Given the description of an element on the screen output the (x, y) to click on. 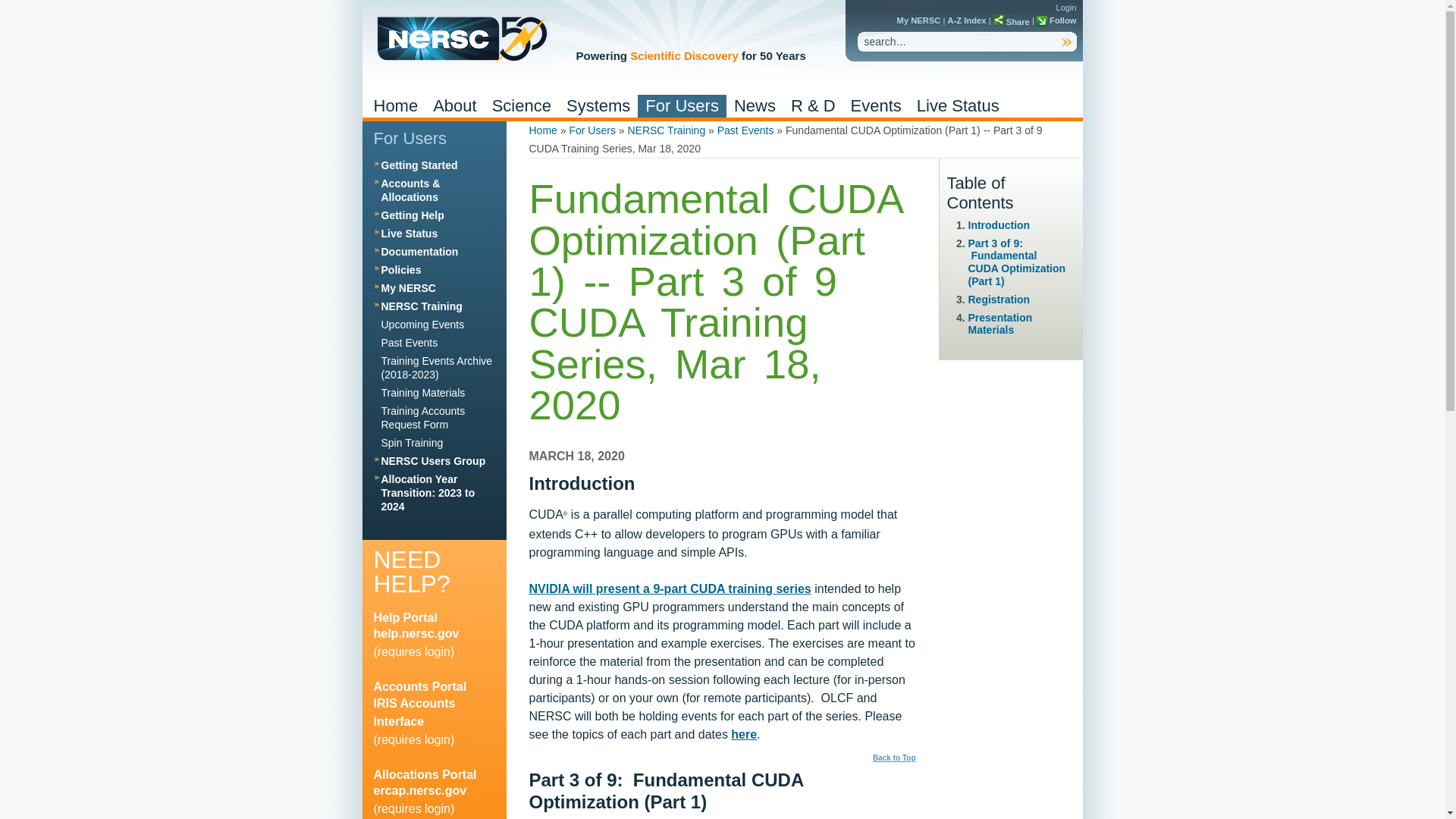
Allocations Portal (418, 789)
Home (394, 106)
Login (1067, 7)
Science (521, 106)
Login (1067, 7)
My NERSC (918, 20)
A-Z Index (967, 20)
For Users (681, 106)
Home (460, 39)
Visit the NERSC allocations portal (424, 774)
